Given the description of an element on the screen output the (x, y) to click on. 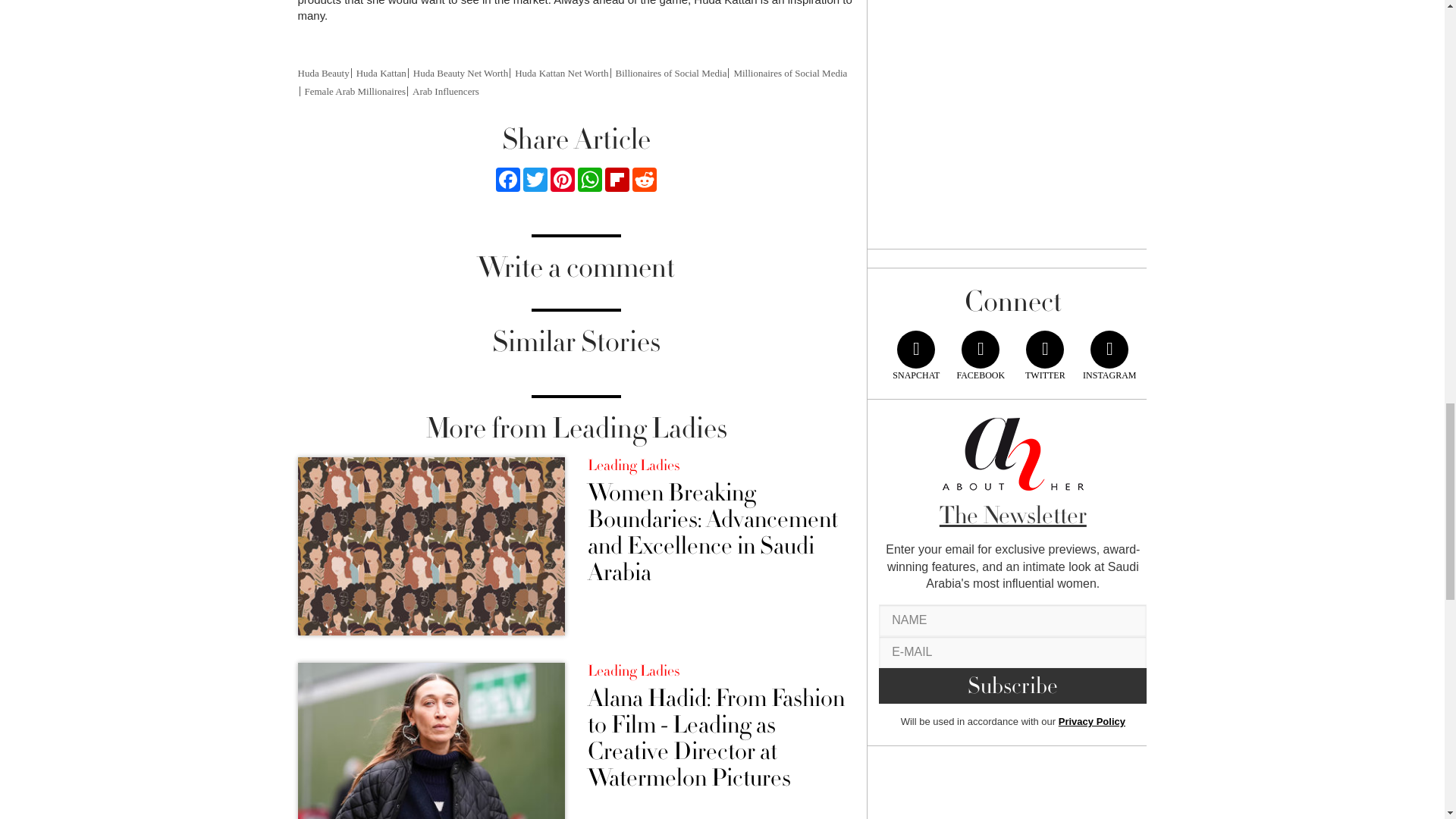
Subscribe (1013, 685)
